Given the description of an element on the screen output the (x, y) to click on. 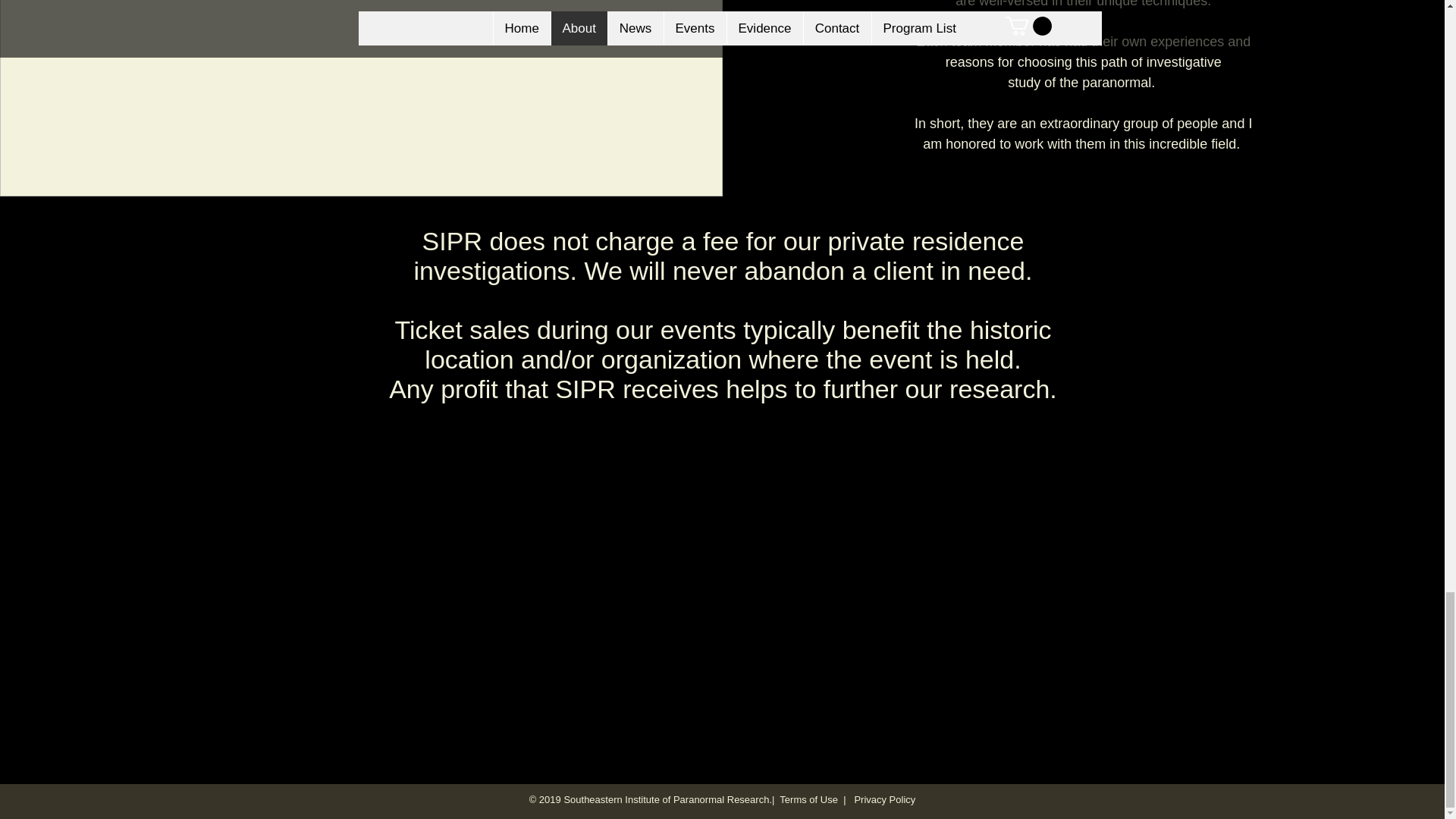
 Privacy Policy (883, 799)
Terms of Use (808, 799)
